Given the description of an element on the screen output the (x, y) to click on. 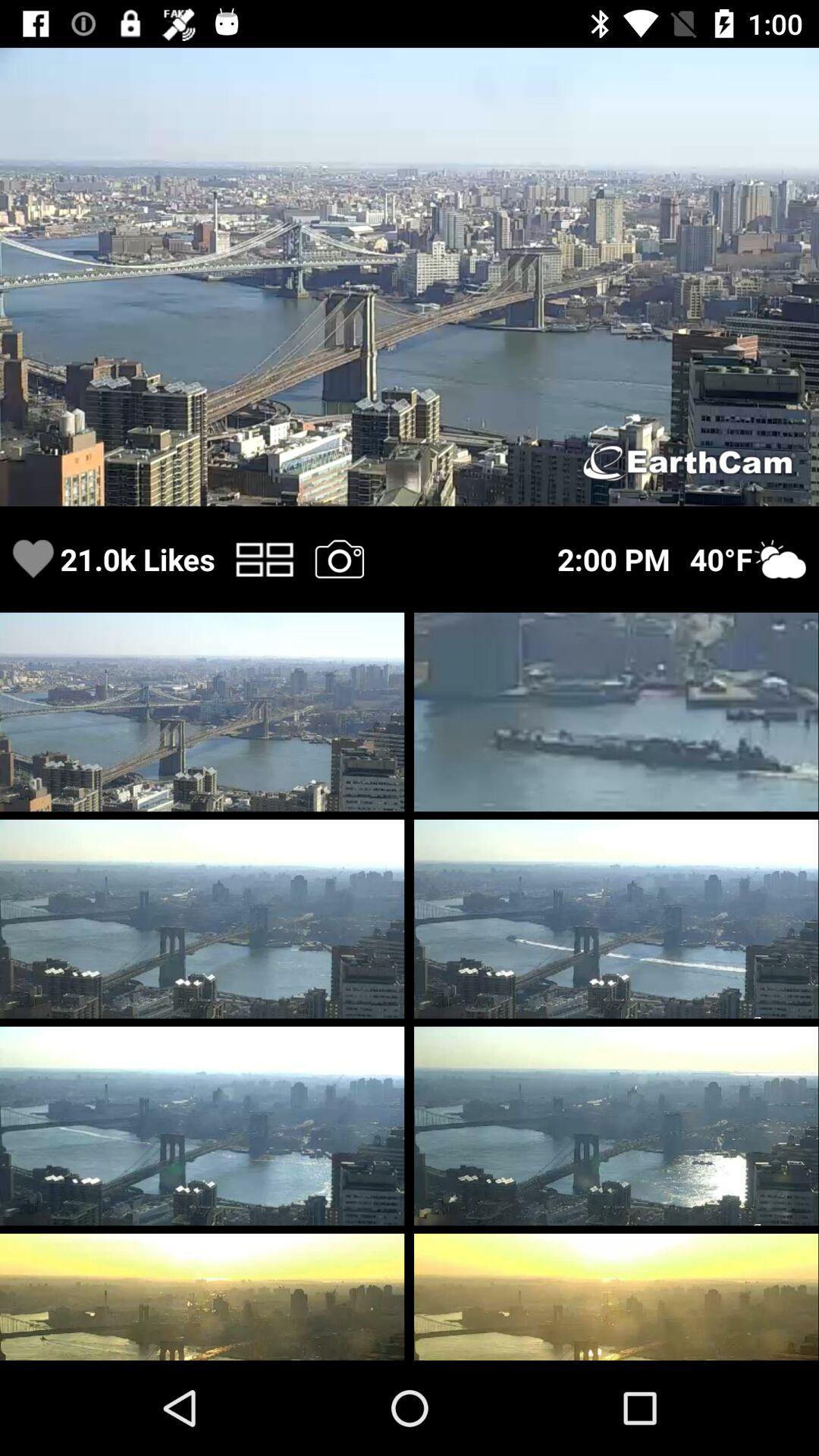
like image (33, 559)
